Given the description of an element on the screen output the (x, y) to click on. 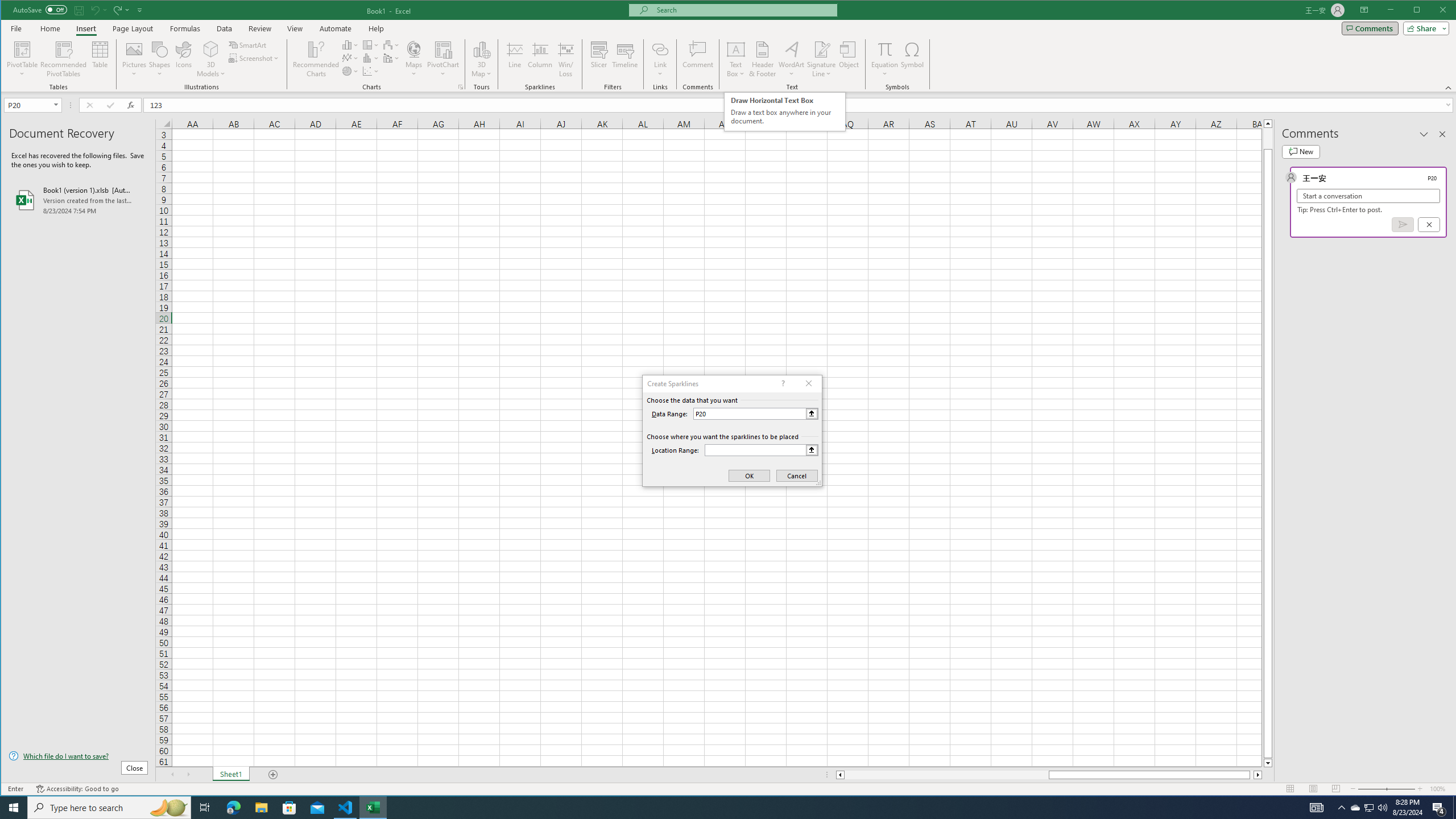
Text Box (735, 59)
Win/Loss (565, 59)
Pictures (134, 59)
Shapes (159, 59)
Icons (183, 59)
Recommended PivotTables (63, 59)
PivotChart (443, 59)
Insert Waterfall, Funnel, Stock, Surface, or Radar Chart (391, 44)
Insert Column or Bar Chart (350, 44)
Equation (884, 48)
